Given the description of an element on the screen output the (x, y) to click on. 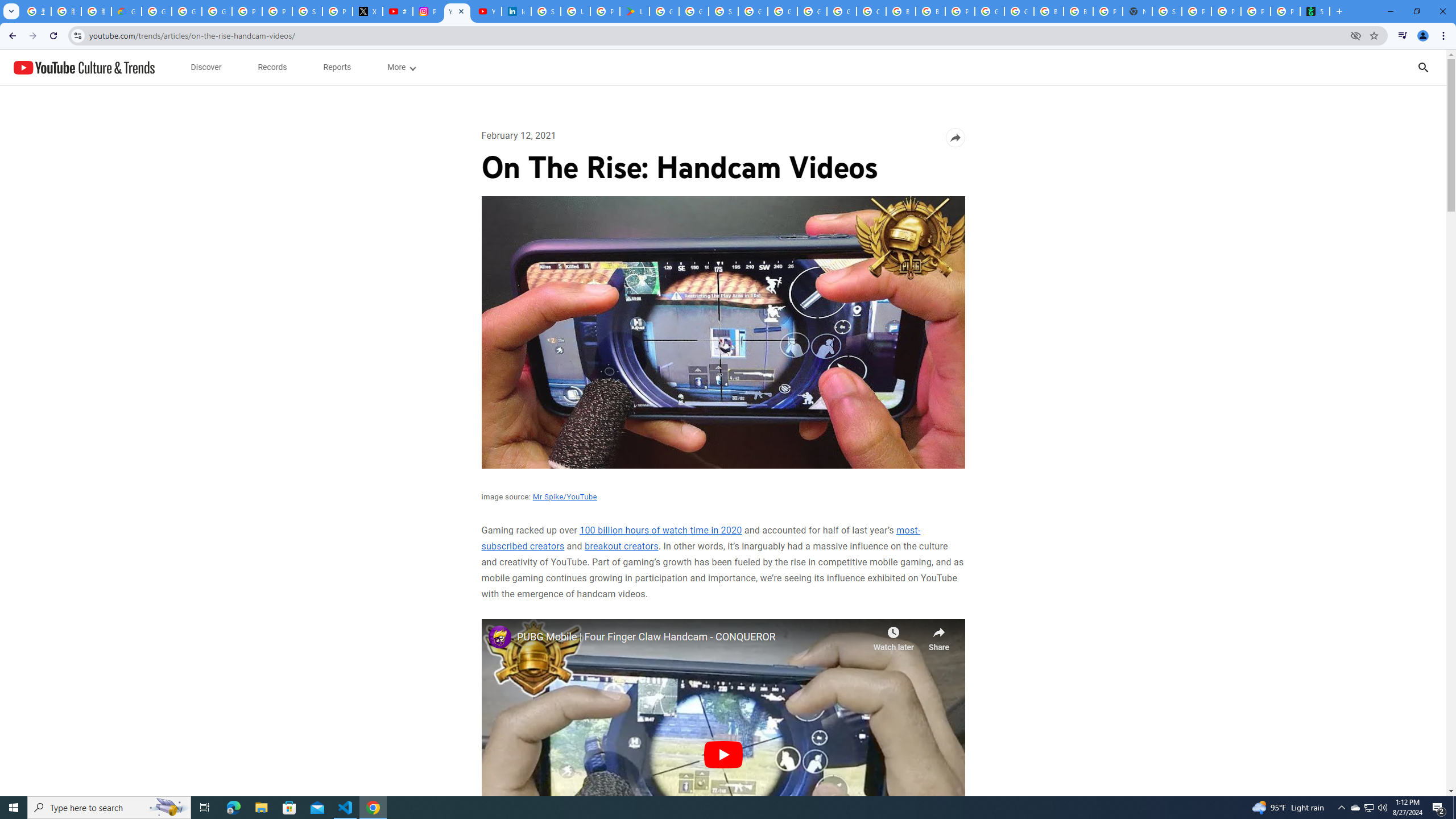
subnav-Records menupopup (271, 67)
Sign in - Google Accounts (545, 11)
Google Cloud Platform (811, 11)
X (367, 11)
Sign in - Google Accounts (1166, 11)
YouTube Culture & Trends - YouTube Top 10, 2021 (486, 11)
